Given the description of an element on the screen output the (x, y) to click on. 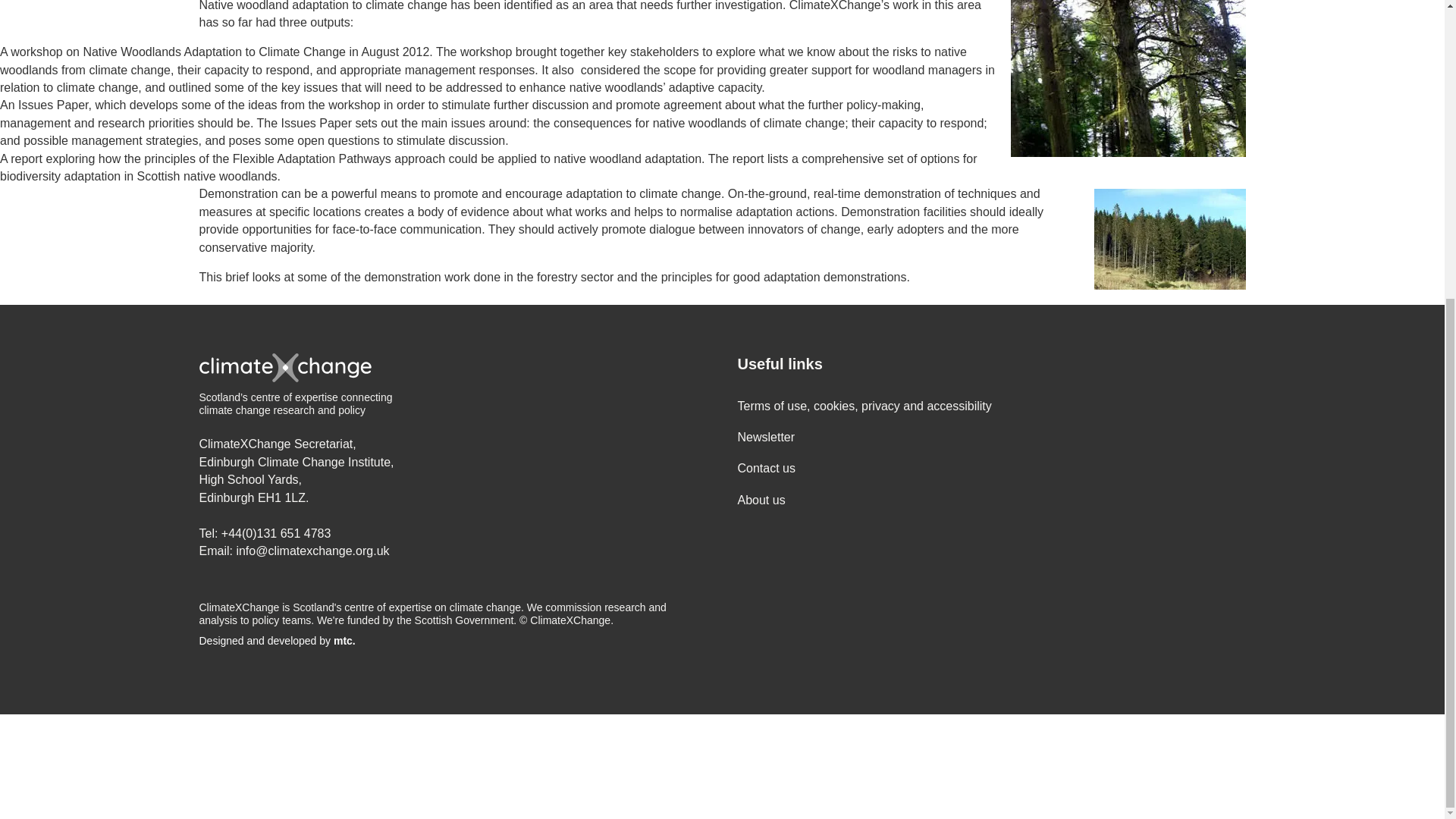
government-logo-1-e1696504105465-300x46 (180, 766)
Designed and developed by mtc. (452, 640)
Newsletter (765, 436)
Contact us (765, 468)
Terms of use, cookies, privacy and accessibility (863, 405)
internet-crystal-mark (417, 766)
About us (760, 499)
